Given the description of an element on the screen output the (x, y) to click on. 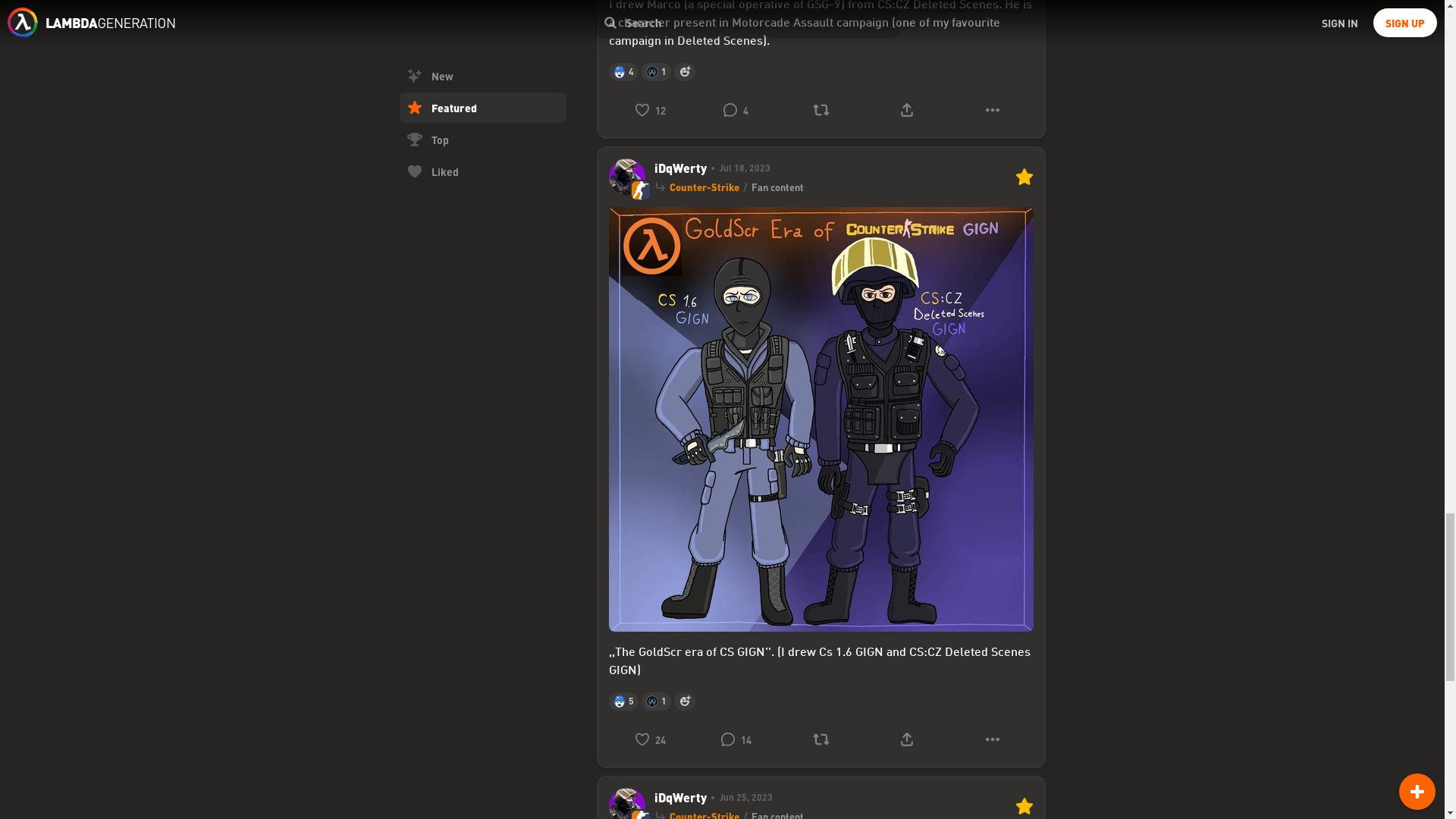
Jul 18, 2023 (738, 168)
iDqWerty (679, 167)
4 (735, 109)
